Given the description of an element on the screen output the (x, y) to click on. 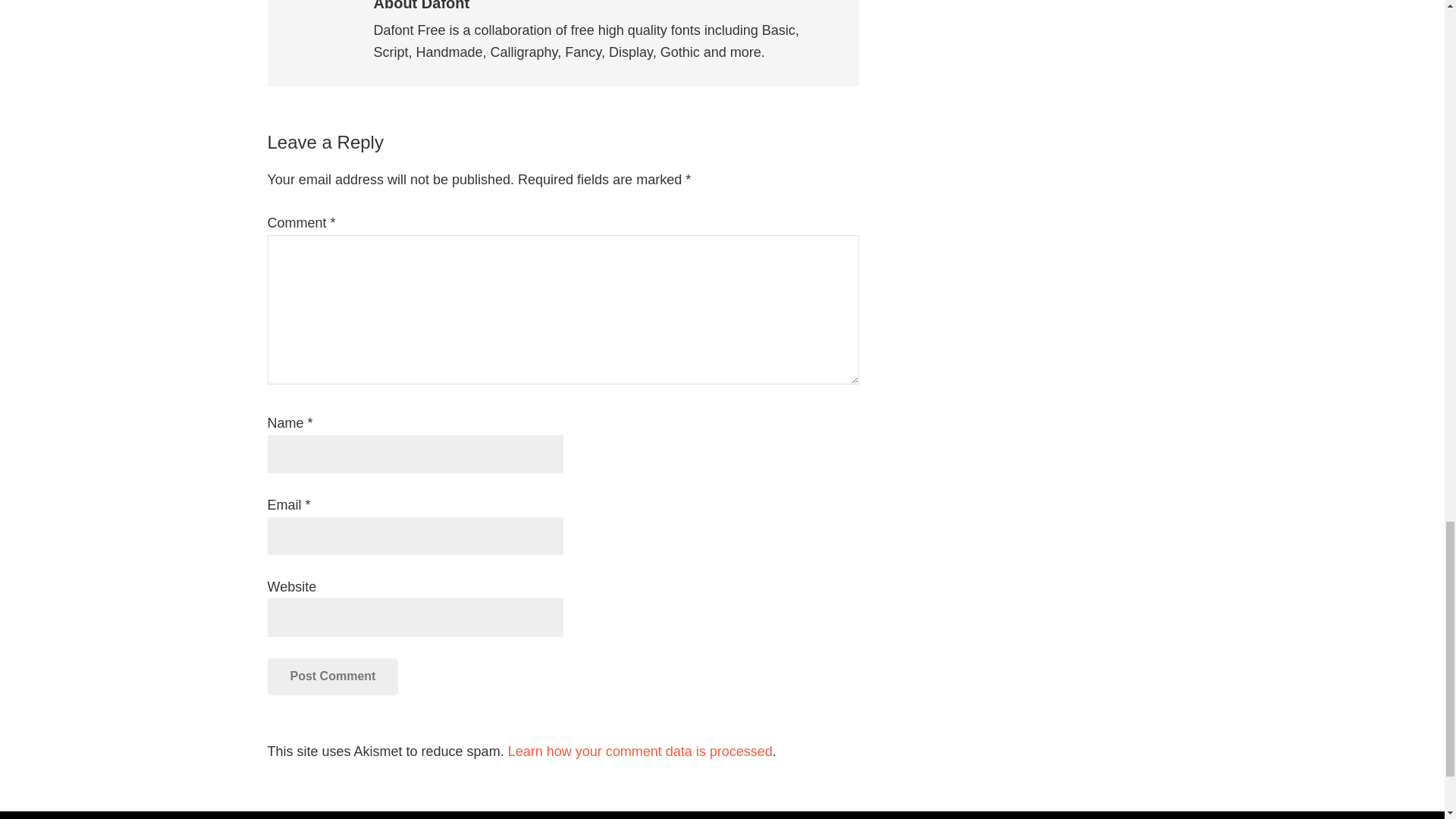
Post Comment (331, 676)
Learn how your comment data is processed (640, 751)
Post Comment (331, 676)
